Given the description of an element on the screen output the (x, y) to click on. 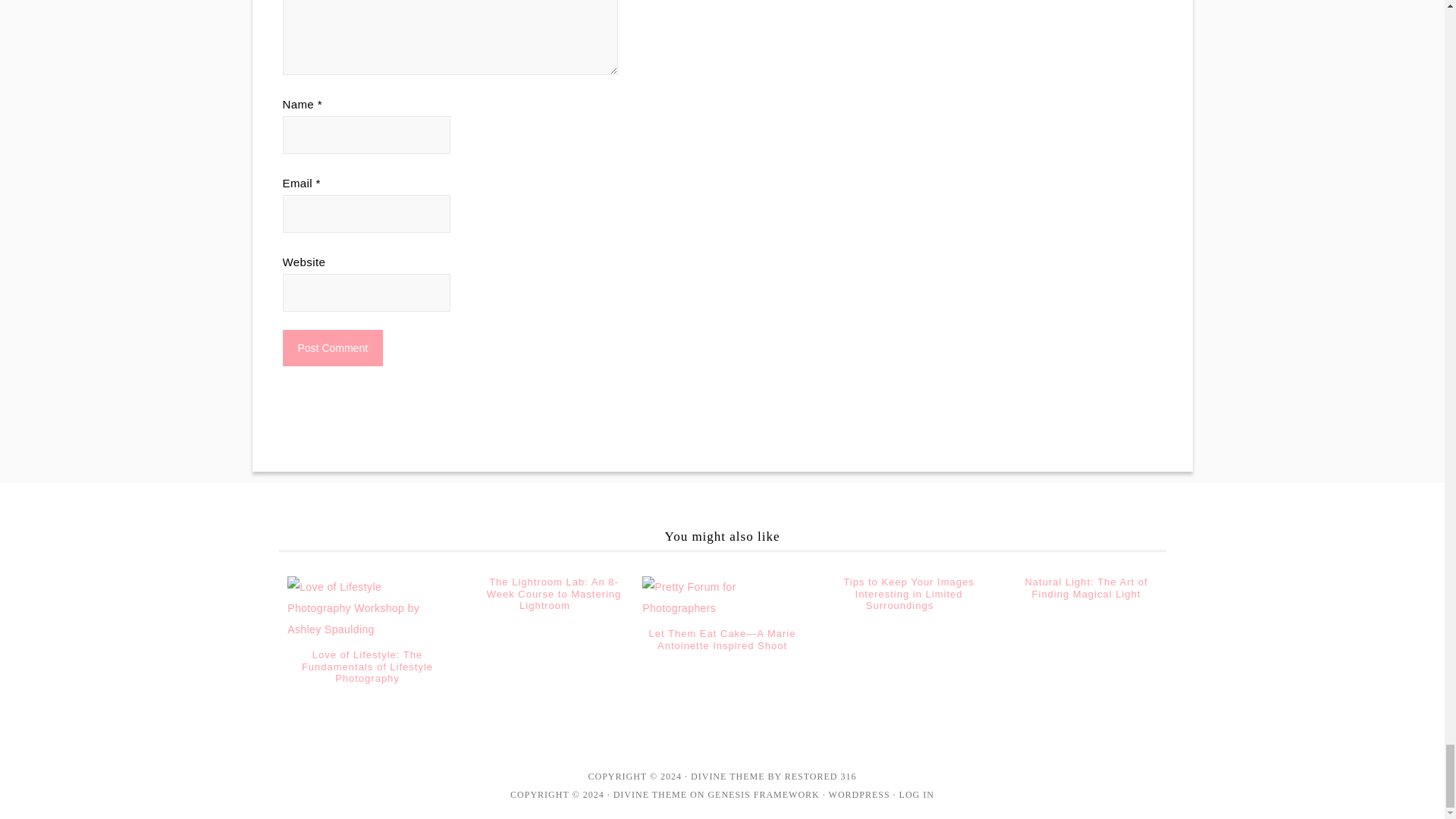
The Lightroom Lab: An 8-Week Course to Mastering Lightroom (553, 593)
Love of Lifestyle: The Fundamentals of Lifestyle Photography (366, 666)
Post Comment (332, 348)
Post Comment (332, 348)
